Given the description of an element on the screen output the (x, y) to click on. 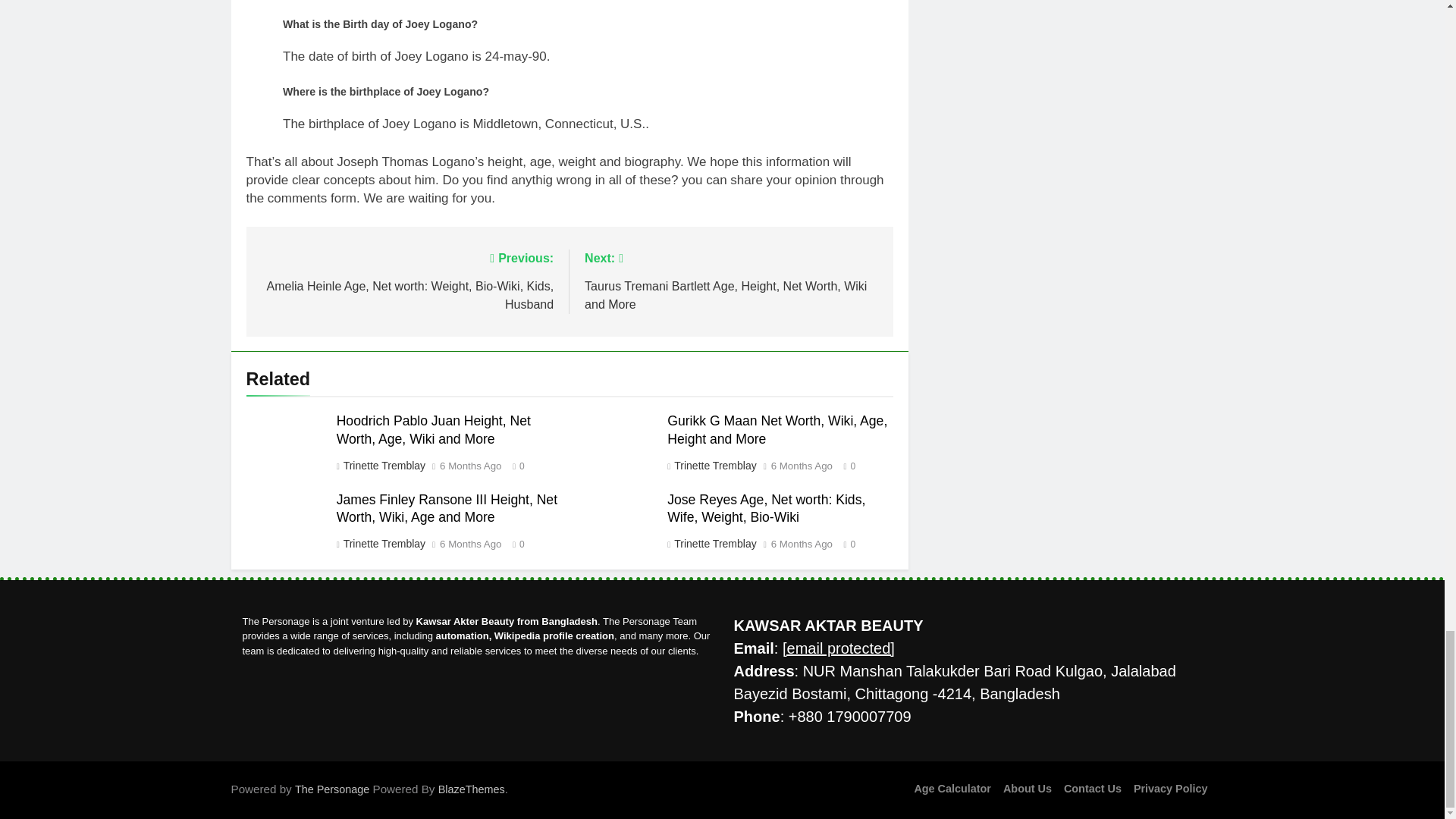
0 (845, 464)
Gurikk G Maan Net Worth, Wiki, Age, Height and More (776, 429)
0 (514, 543)
Trinette Tremblay (383, 543)
6 Months Ago (469, 466)
Trinette Tremblay (383, 465)
6 Months Ago (469, 543)
Trinette Tremblay (713, 465)
0 (514, 464)
